Given the description of an element on the screen output the (x, y) to click on. 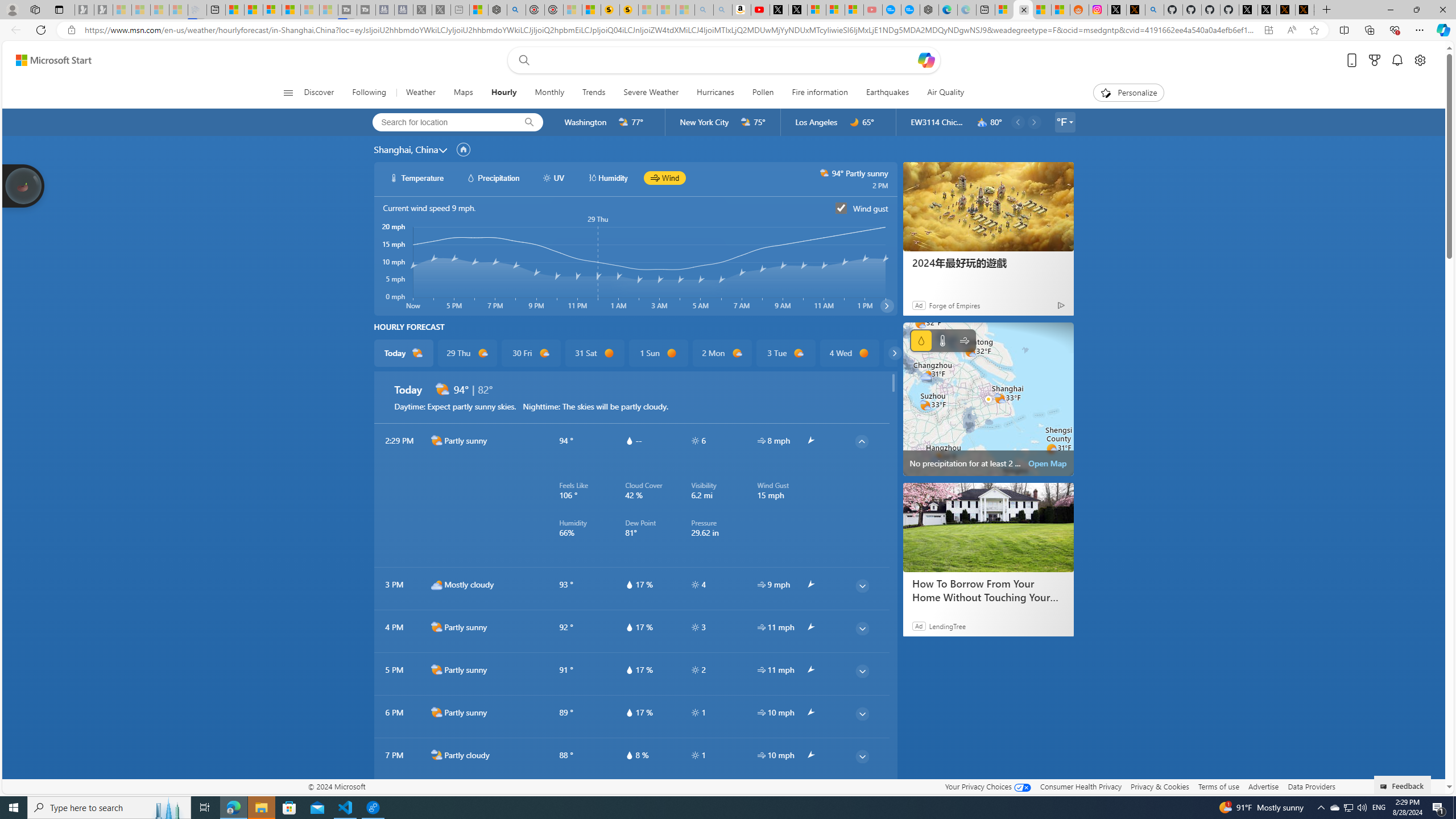
Monthly (549, 92)
Consumer Health Privacy (1080, 786)
Skip to footer (46, 59)
d0000 (864, 353)
The most popular Google 'how to' searches (910, 9)
Hourly (503, 92)
d3000 (436, 584)
How To Borrow From Your Home Without Touching Your Mortgage (987, 590)
Hourly (503, 92)
Severe Weather (651, 92)
